Given the description of an element on the screen output the (x, y) to click on. 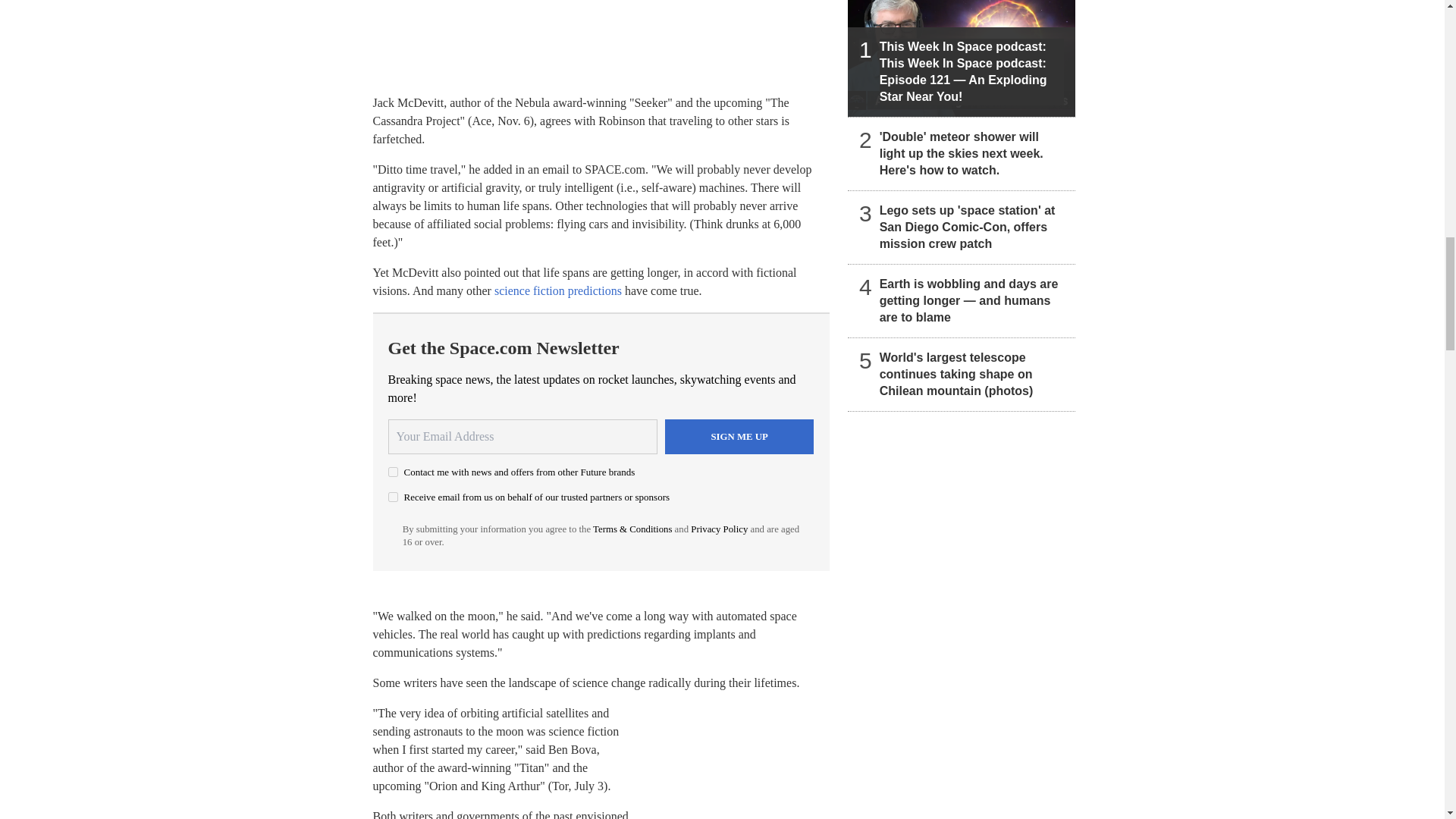
on (392, 497)
Sign me up (739, 436)
on (392, 471)
